Given the description of an element on the screen output the (x, y) to click on. 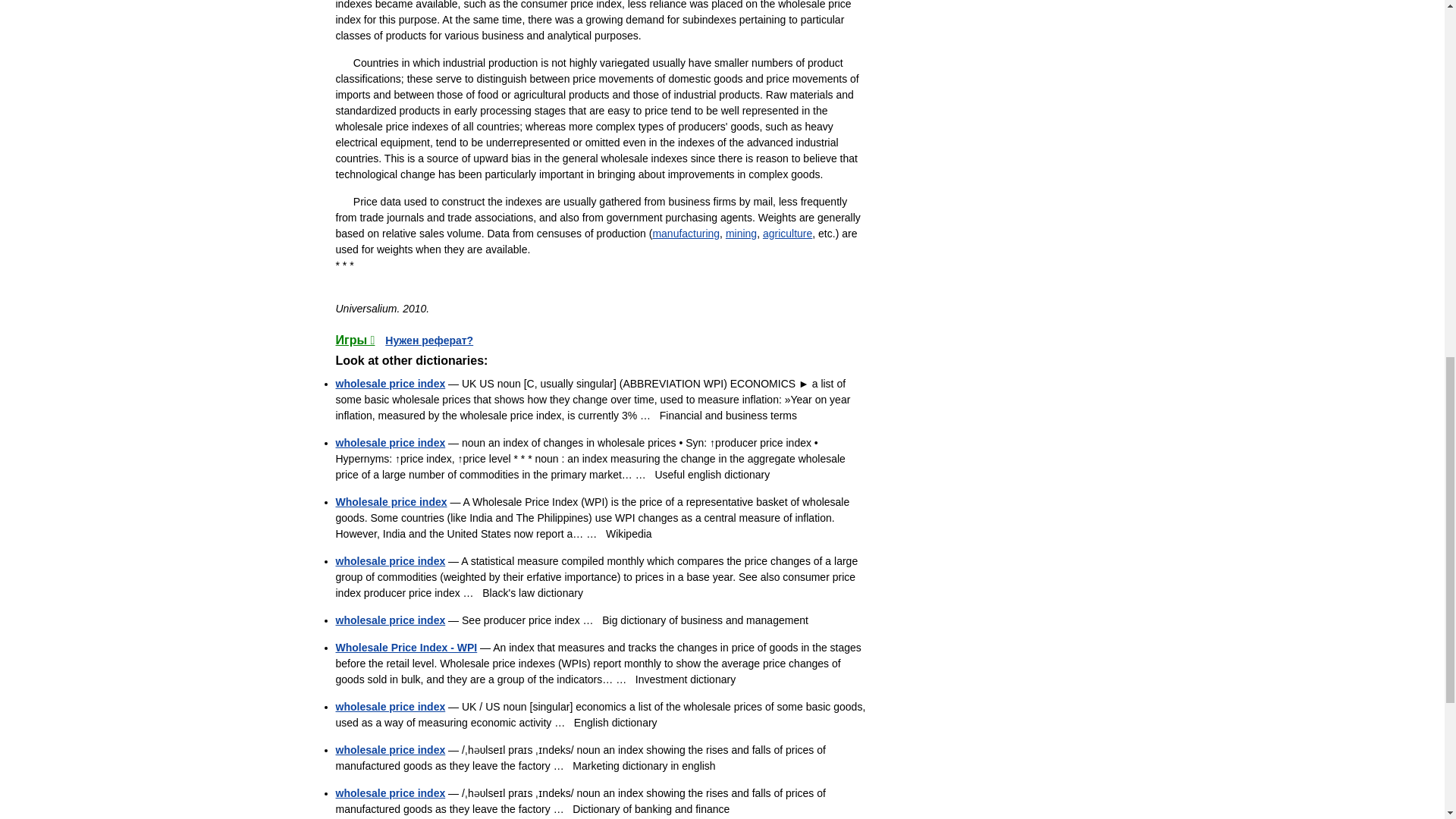
Wholesale price index (390, 501)
agriculture (787, 233)
wholesale price index (389, 442)
wholesale price index (389, 561)
Wholesale Price Index - WPI (405, 647)
manufacturing (685, 233)
wholesale price index (389, 383)
mining (741, 233)
wholesale price index (389, 620)
